Given the description of an element on the screen output the (x, y) to click on. 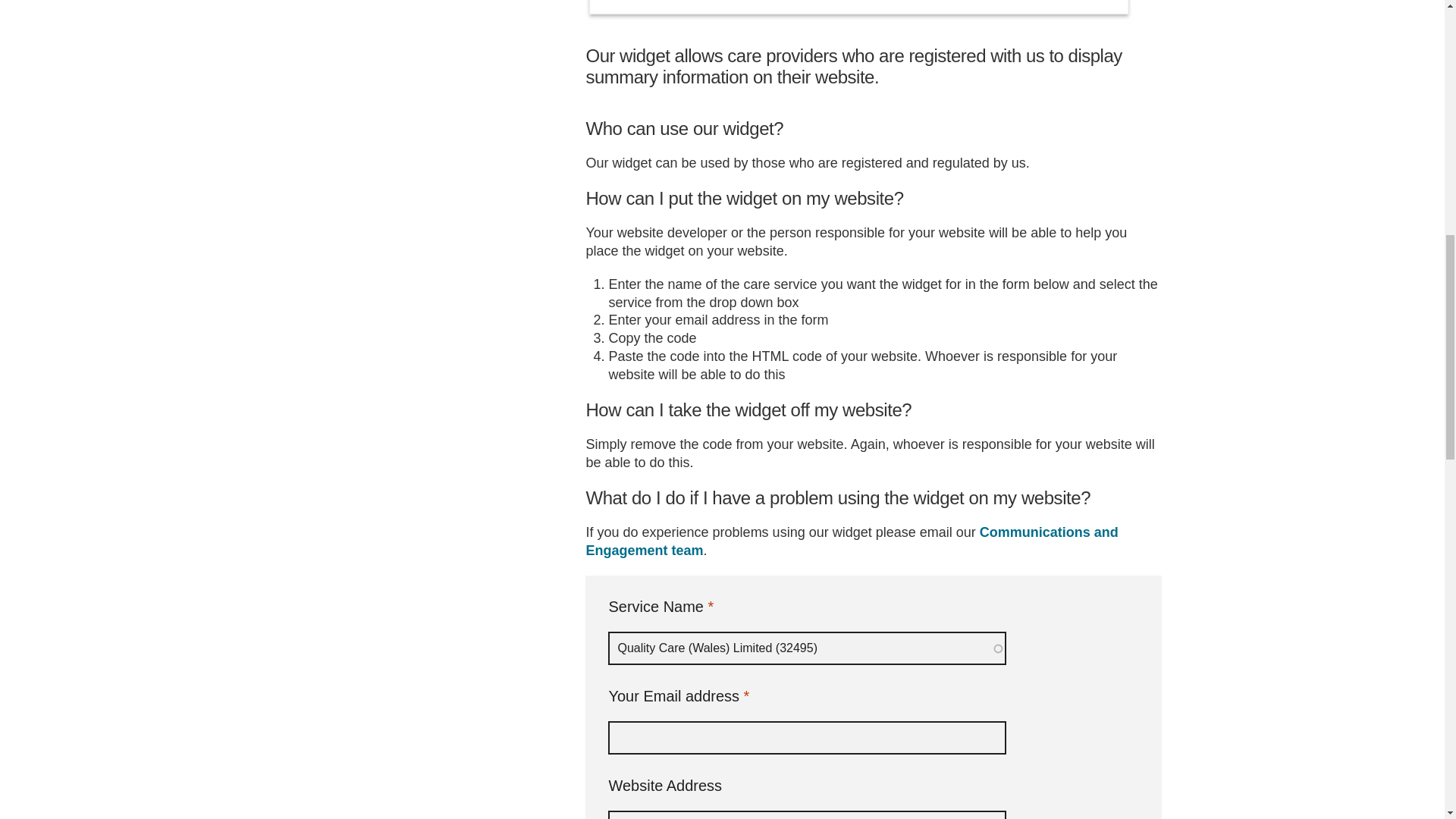
Communications and Engagement team (851, 540)
